Given the description of an element on the screen output the (x, y) to click on. 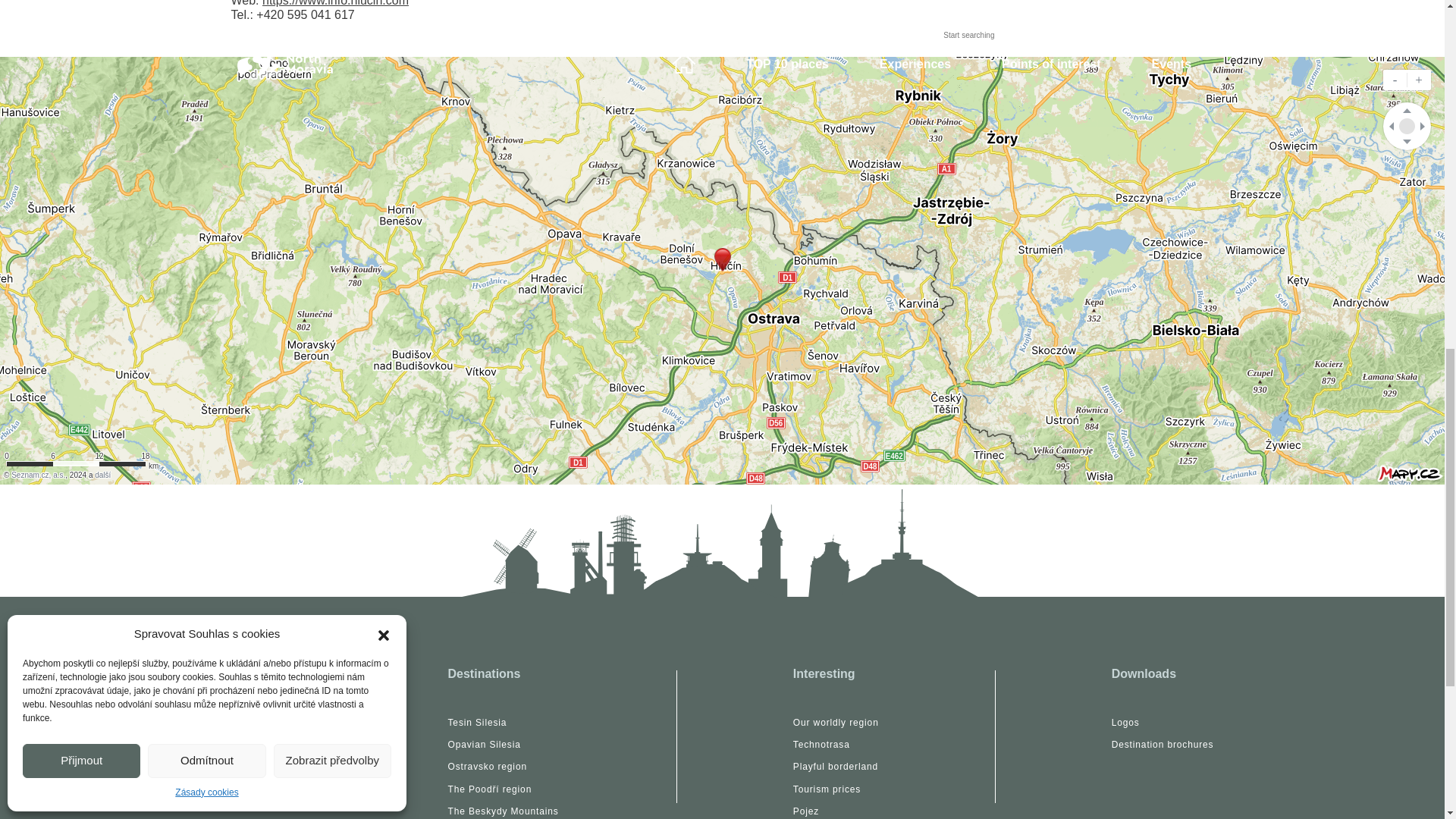
Posun mapy (1407, 125)
